Given the description of an element on the screen output the (x, y) to click on. 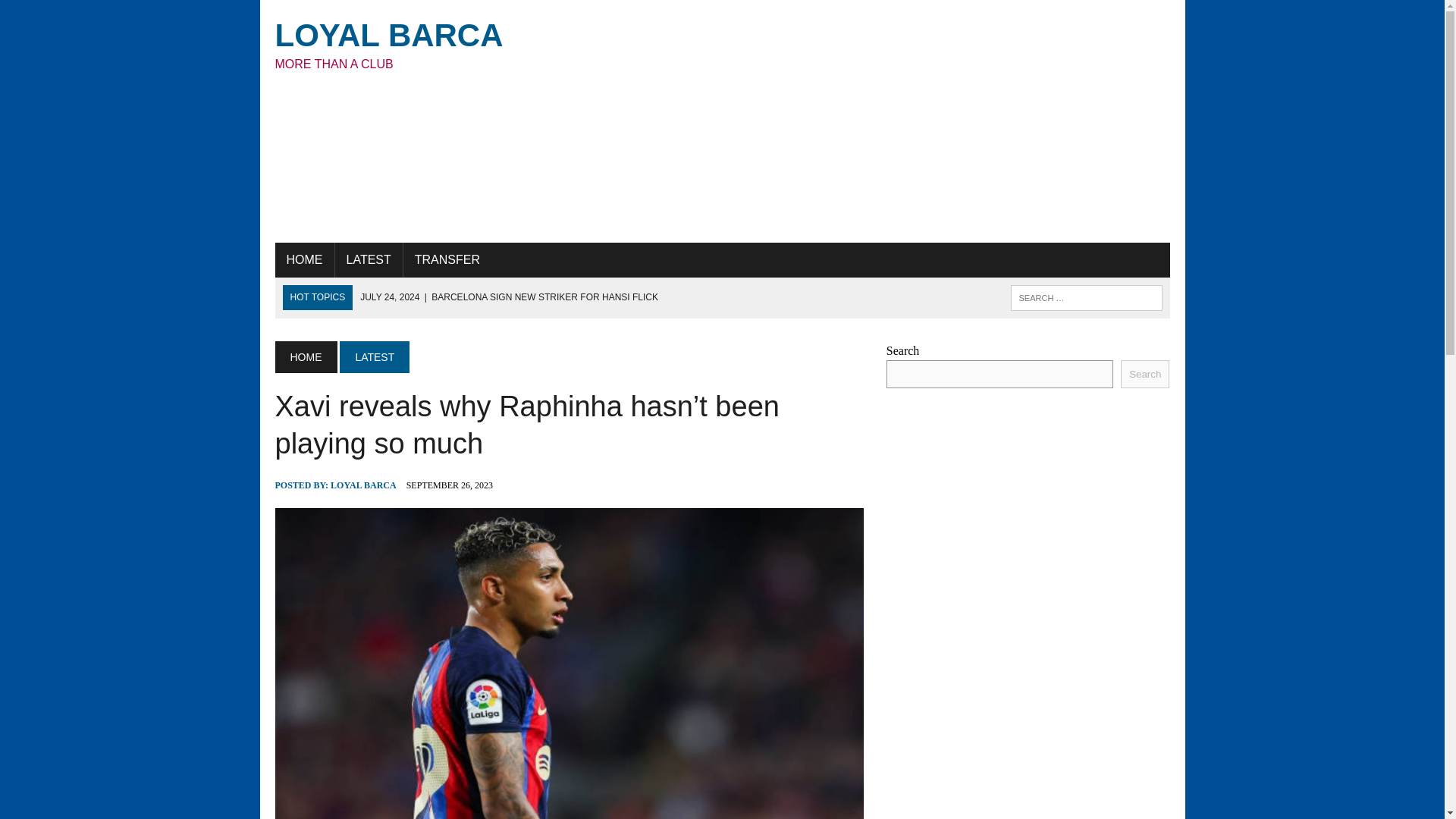
Advertisement (875, 121)
HOME (304, 259)
LOYAL BARCA (363, 484)
LATEST (368, 259)
Barcelona sign new striker for Hansi Flick (508, 296)
Search (1145, 374)
Loyal Barca (416, 43)
TRANSFER (447, 259)
HOME (416, 43)
LATEST (305, 357)
Search (374, 357)
